Given the description of an element on the screen output the (x, y) to click on. 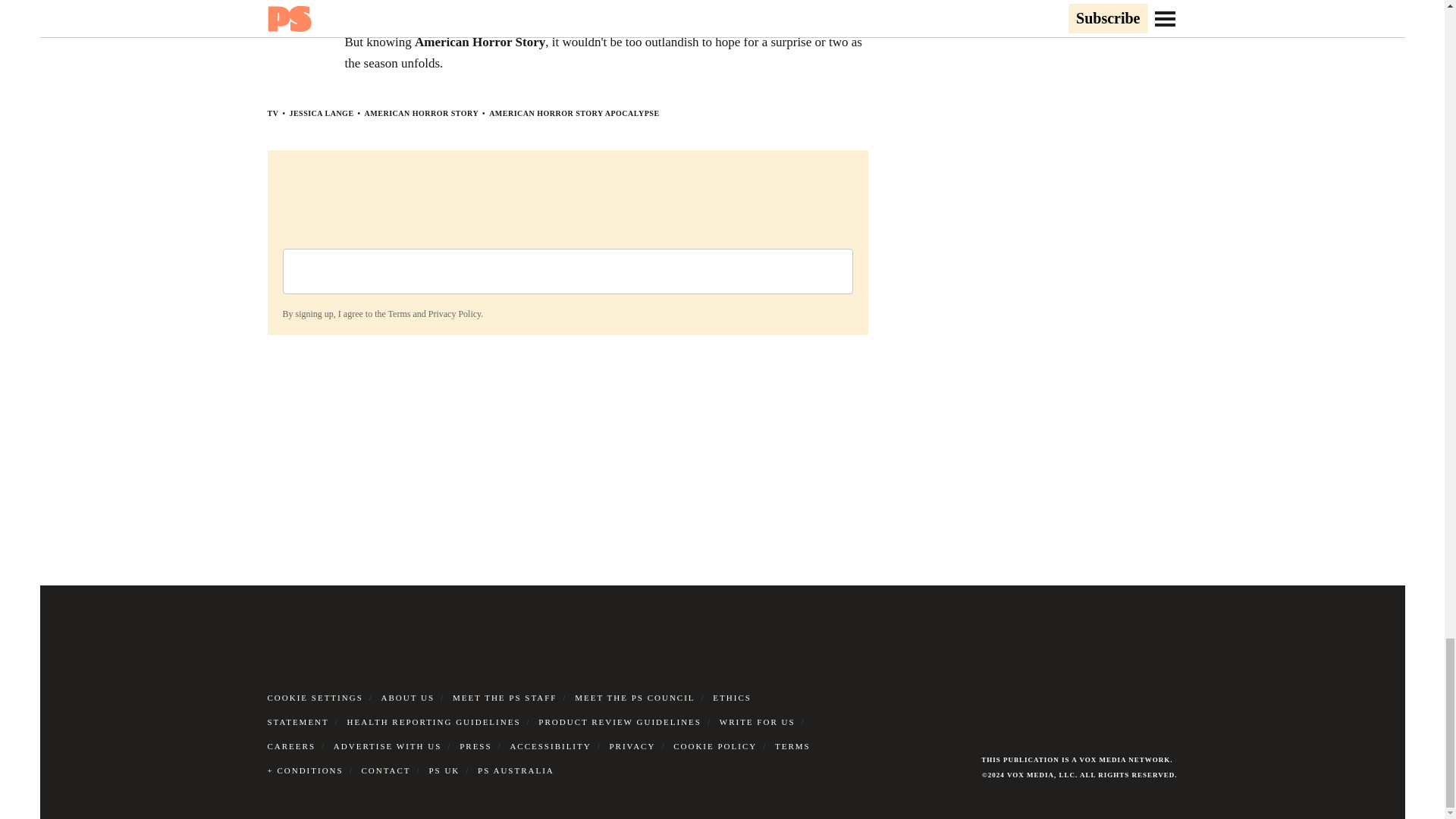
WRITE FOR US (756, 721)
PRODUCT REVIEW GUIDELINES (619, 721)
Terms (399, 313)
ABOUT US (408, 697)
Privacy Policy. (455, 313)
ETHICS STATEMENT (508, 709)
TV (272, 112)
AMERICAN HORROR STORY (422, 112)
JESSICA LANGE (320, 112)
MEET THE PS COUNCIL (634, 697)
